Given the description of an element on the screen output the (x, y) to click on. 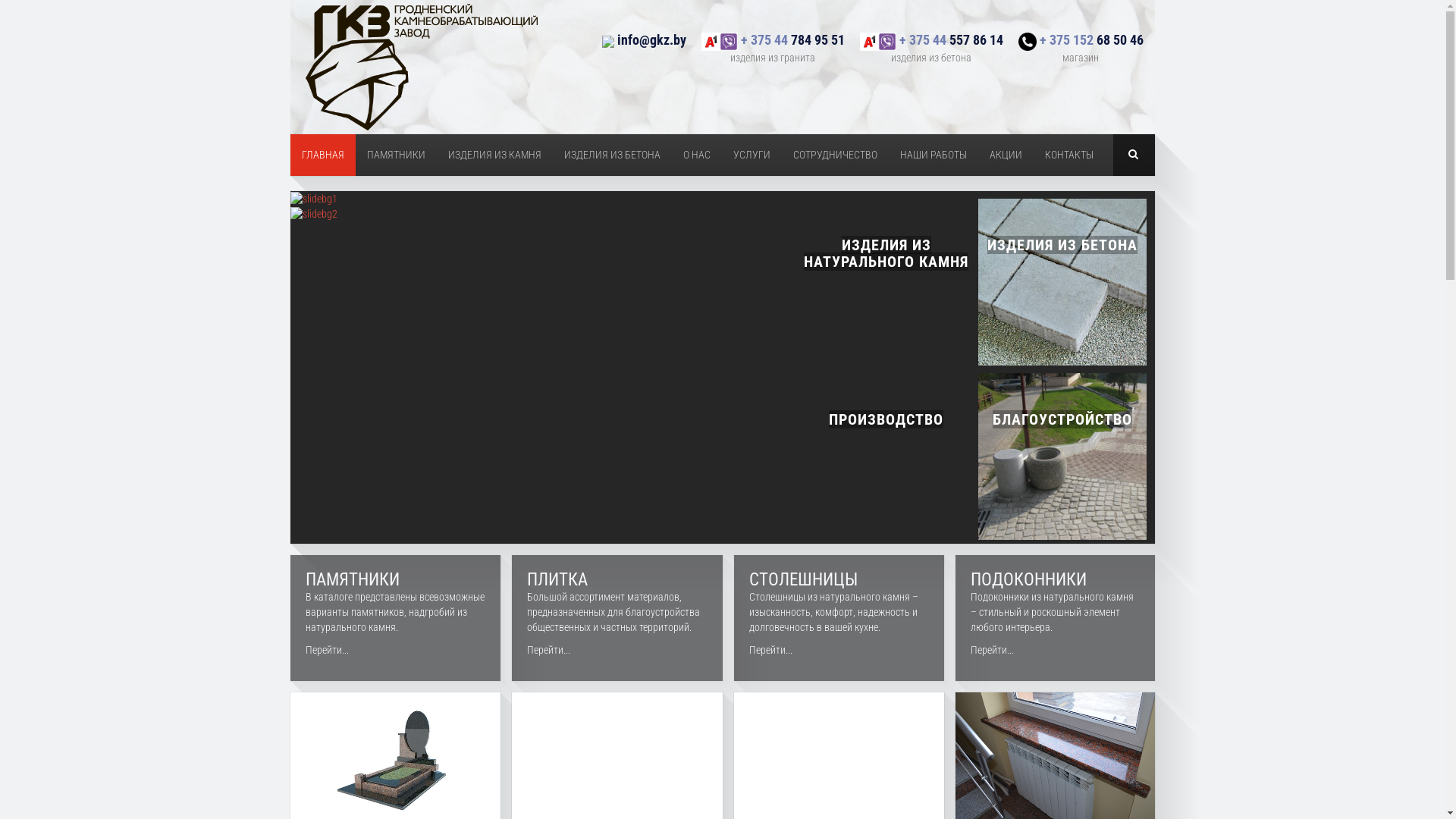
+ 375 44 557 86 14 Element type: text (931, 40)
info@gkz.by Element type: text (644, 40)
+ 375 44 784 95 51 Element type: text (772, 40)
+ 375 152 68 50 46 Element type: text (1079, 40)
